Given the description of an element on the screen output the (x, y) to click on. 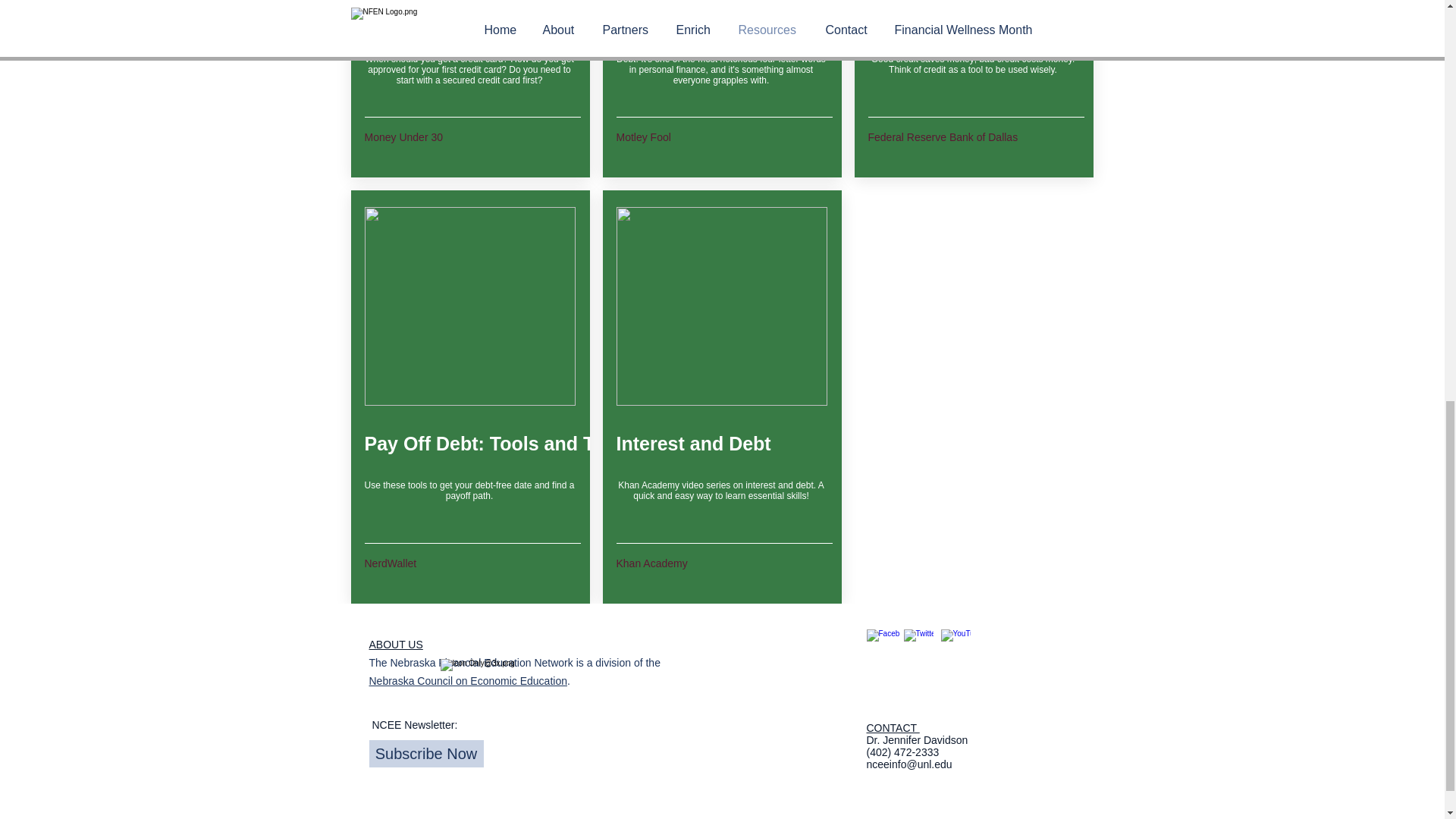
14 Steps to Manage Your Debt (750, 23)
Pay Off Debt: Tools and Tips (492, 444)
Build Credit and Control Debt (1000, 23)
Subscribe Now (425, 753)
Image by Sharon McCutcheon.jpg (721, 306)
Nebraska Council on Economic Education (467, 680)
Plastic Hardware Tools.jpg (469, 306)
Your first Credit Card (469, 23)
Interest and Debt (721, 444)
ABOUT US (395, 644)
